Given the description of an element on the screen output the (x, y) to click on. 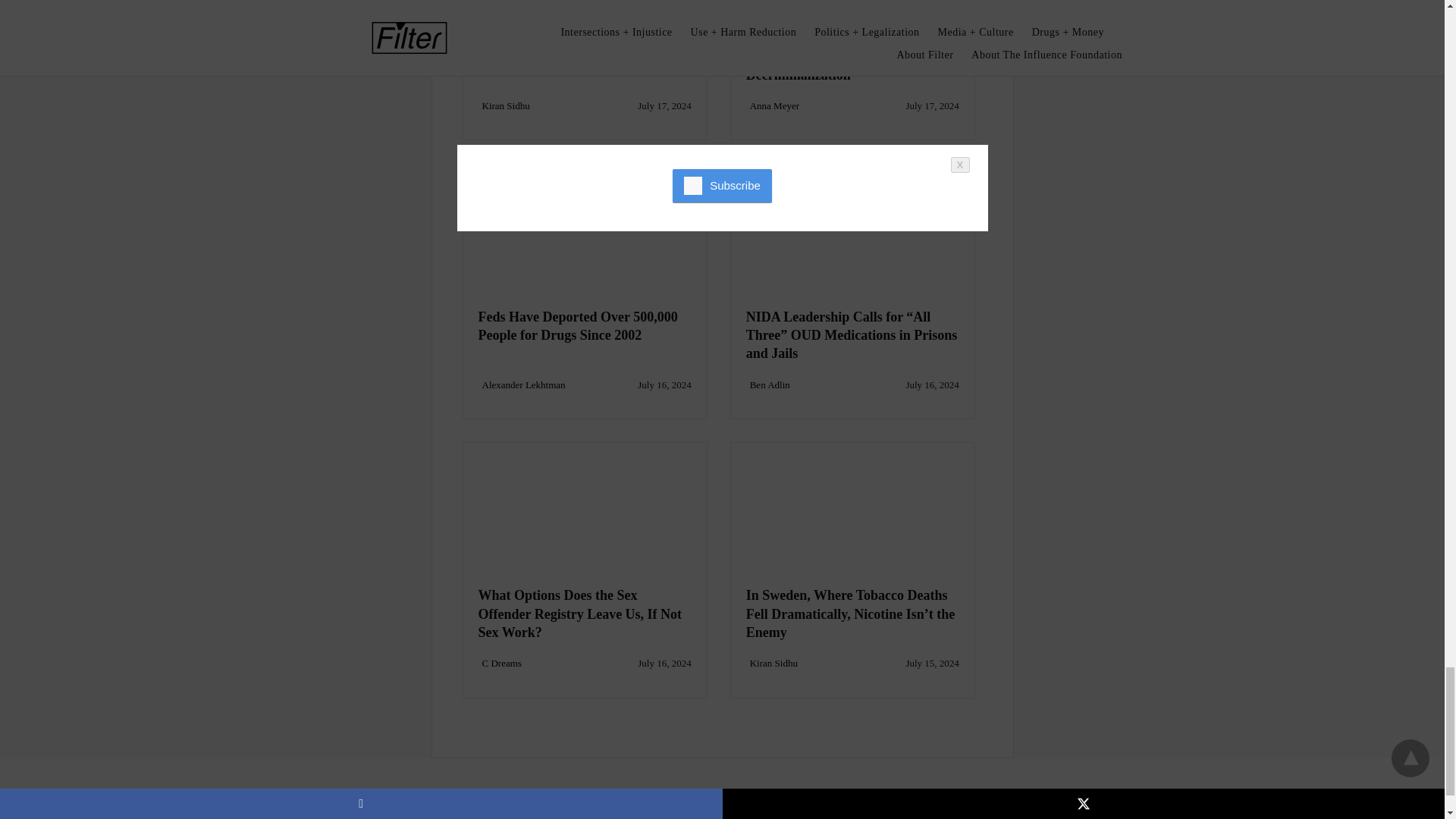
Kiran Sidhu (505, 105)
Anna Meyer (774, 105)
